Given the description of an element on the screen output the (x, y) to click on. 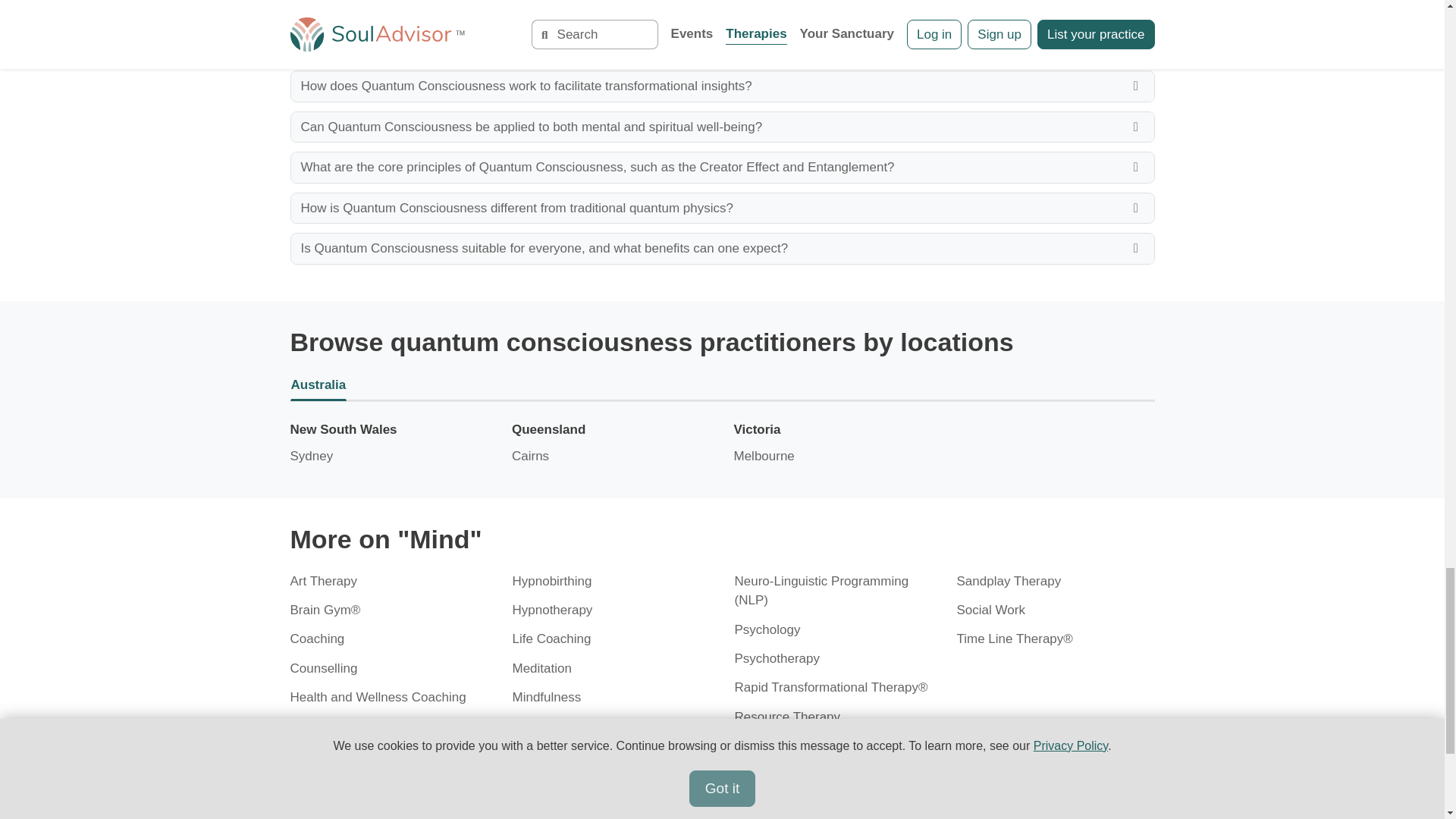
Australia (721, 386)
Hypnotherapy (552, 609)
Australia (721, 386)
Australia (721, 386)
Health and Wellness Coaching (377, 697)
Australia (721, 386)
Hypnobirthing (552, 581)
Coaching (316, 638)
Art Therapy (322, 581)
